Given the description of an element on the screen output the (x, y) to click on. 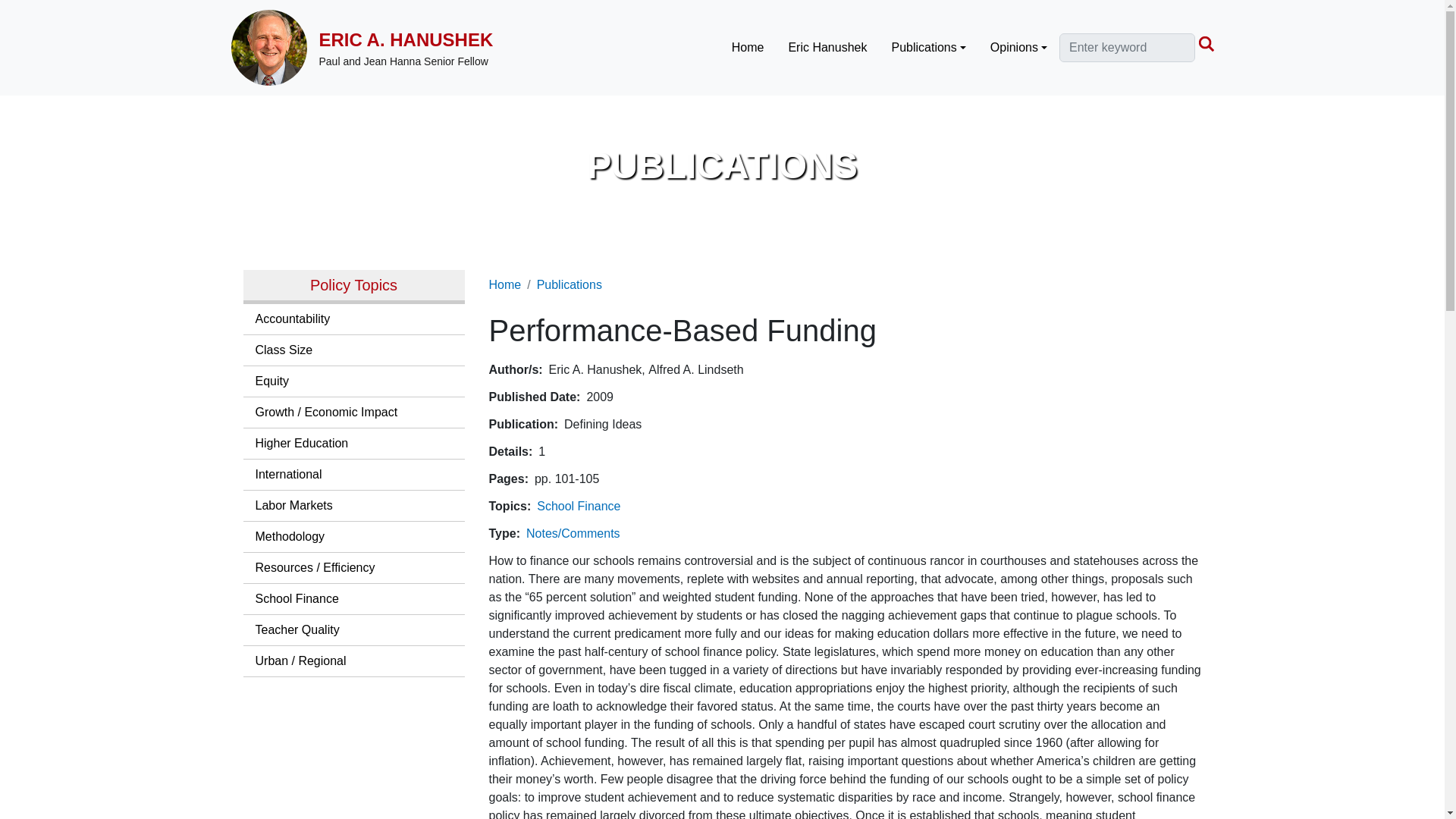
Home (747, 47)
Enter the terms you wish to search for. (1127, 47)
Equity (353, 381)
Expand menu Publications (928, 47)
Home (274, 47)
Skip to main content (60, 11)
Methodology (353, 536)
Home (405, 38)
Higher Education (353, 443)
International (353, 474)
Home (504, 284)
Opinions (1018, 47)
Eric Hanushek (826, 47)
School Finance (578, 505)
Publications (928, 47)
